Given the description of an element on the screen output the (x, y) to click on. 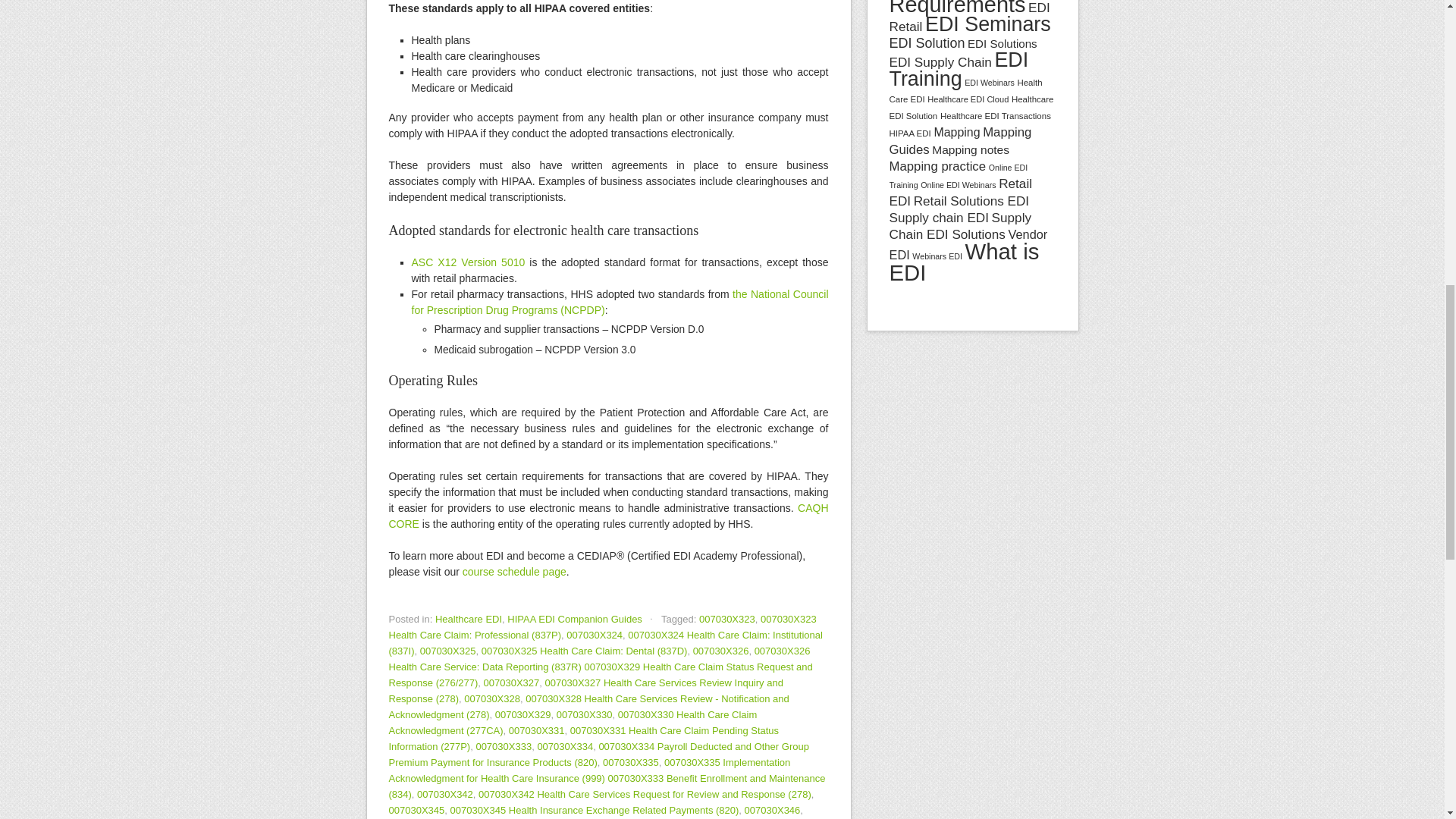
Healthcare EDI (468, 618)
HIPAA EDI Companion Guides (574, 618)
007030X329 (523, 714)
007030X326 (721, 650)
007030X331 (536, 730)
ASC X12 Version 5010 (467, 262)
007030X325 (448, 650)
CAQH CORE (608, 515)
007030X328 (491, 698)
007030X334 (564, 746)
